Given the description of an element on the screen output the (x, y) to click on. 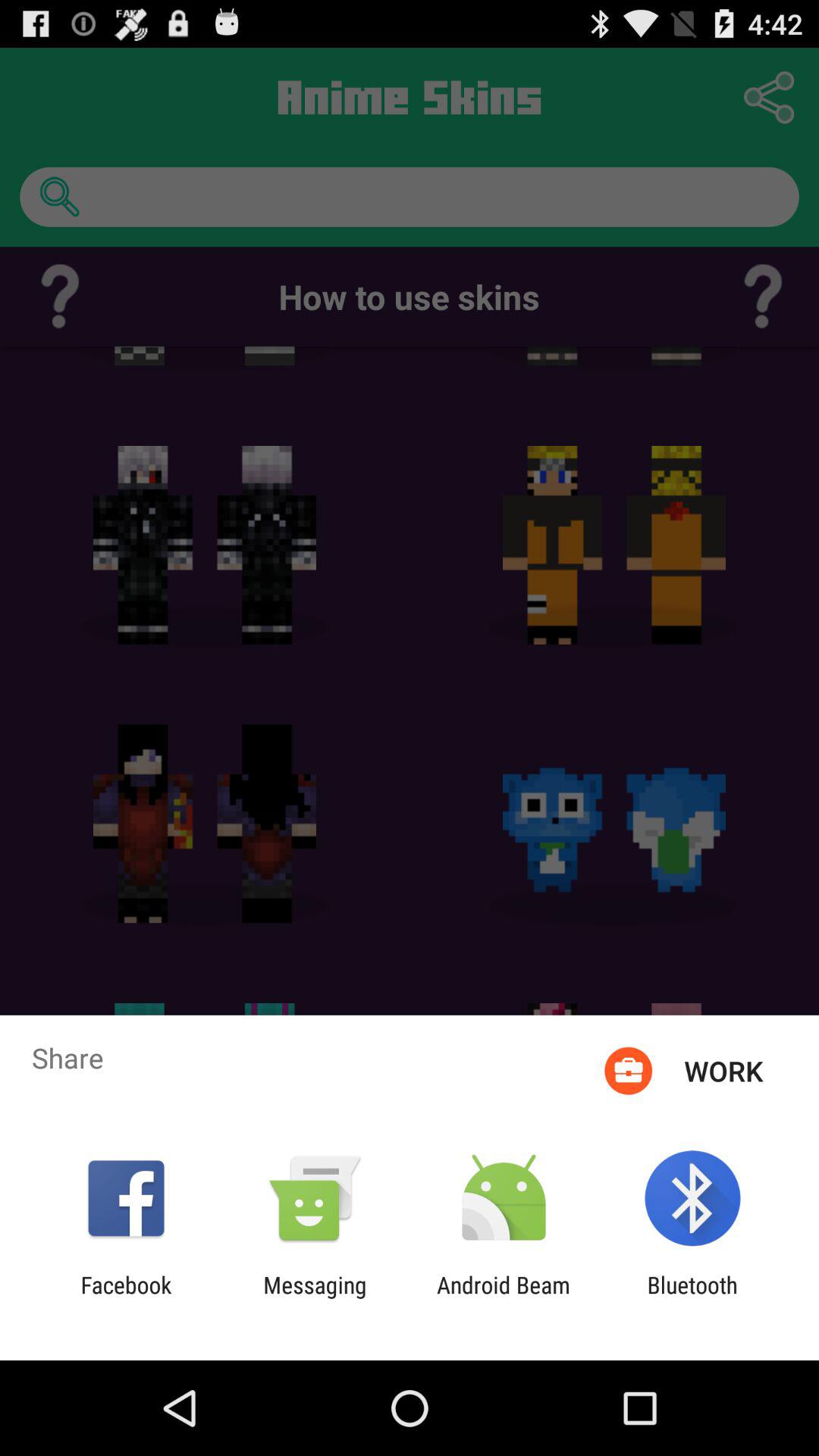
choose the app next to the messaging (125, 1298)
